Given the description of an element on the screen output the (x, y) to click on. 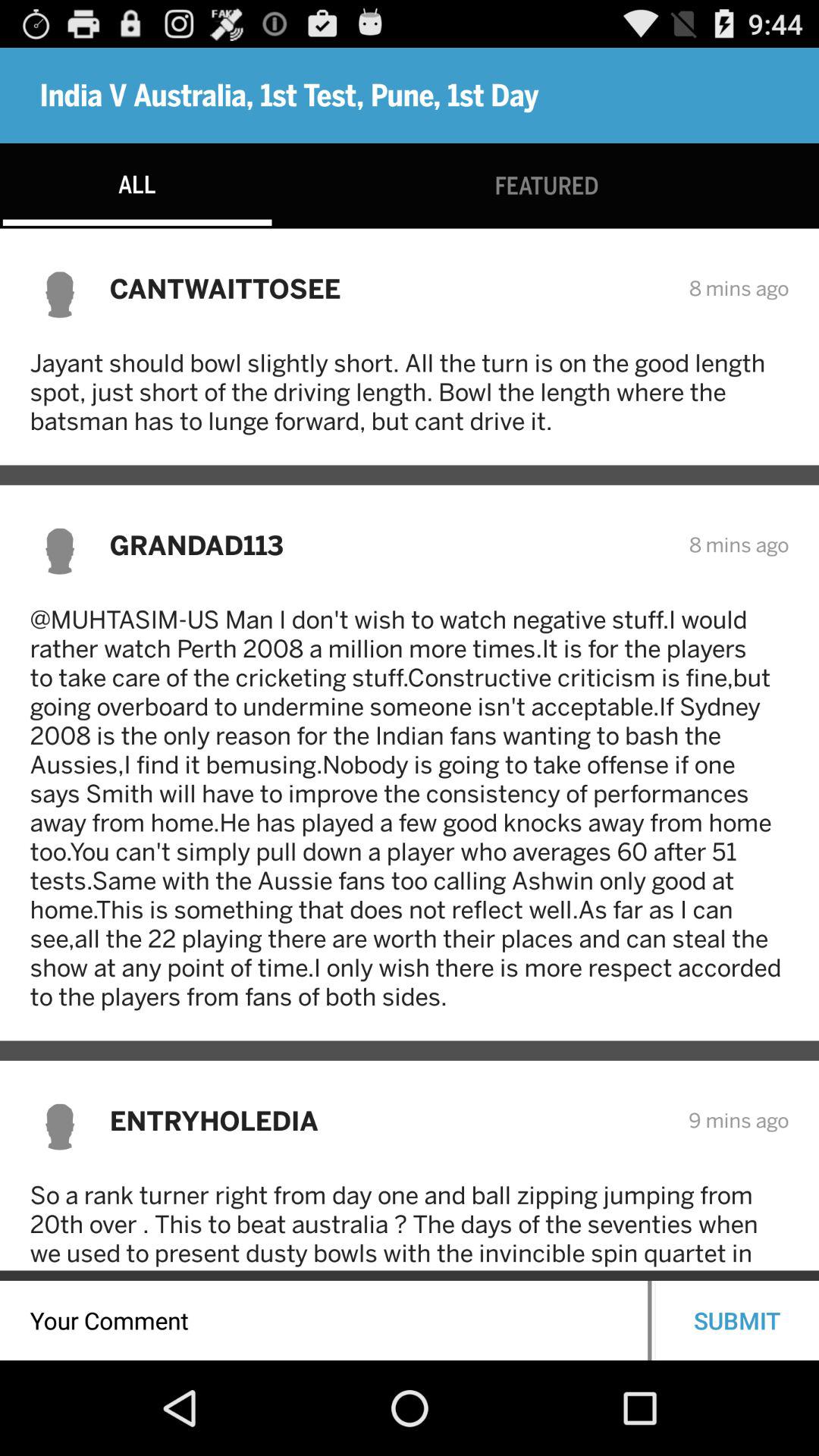
scroll to the jayant should bowl (409, 391)
